Given the description of an element on the screen output the (x, y) to click on. 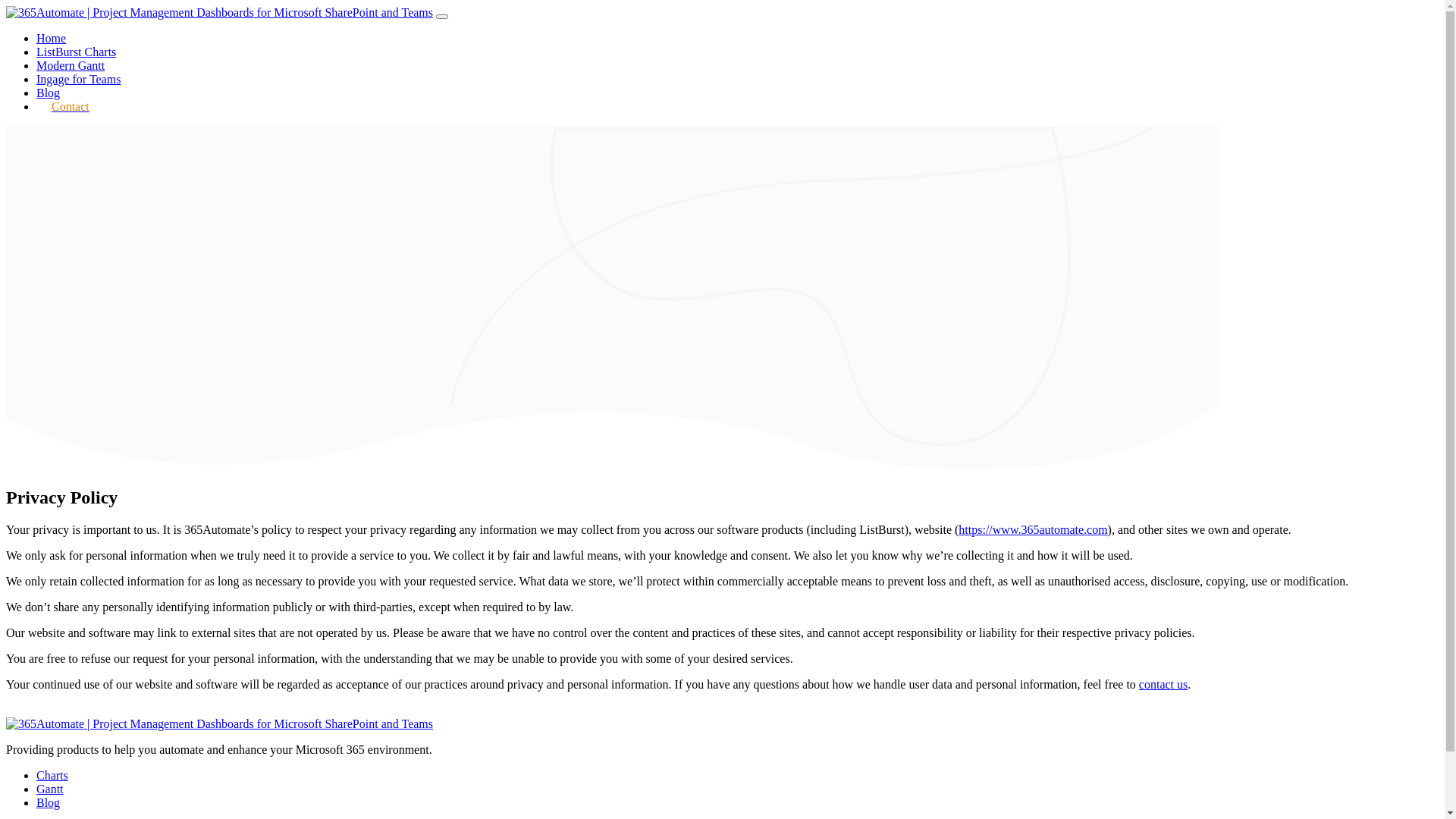
https://www.365automate.com Element type: text (1032, 529)
Contact Element type: text (70, 99)
Charts Element type: text (52, 774)
Modern Gantt Element type: text (70, 65)
Blog Element type: text (47, 92)
Ingage for Teams Element type: text (78, 78)
Gantt Element type: text (49, 788)
Blog Element type: text (47, 802)
ListBurst Charts Element type: text (76, 51)
contact us Element type: text (1163, 683)
Home Element type: text (50, 37)
